Given the description of an element on the screen output the (x, y) to click on. 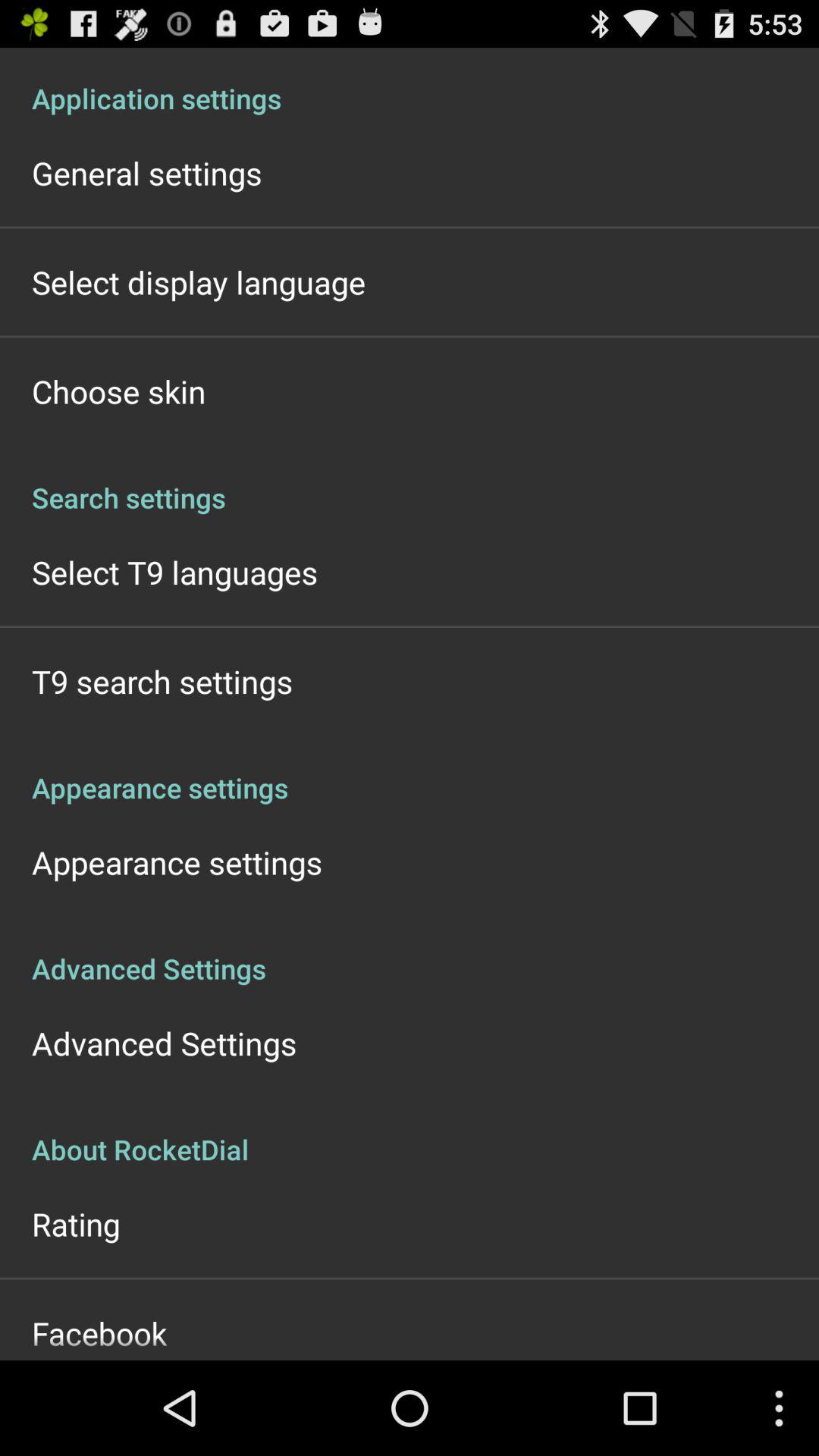
select the general settings icon (146, 172)
